Given the description of an element on the screen output the (x, y) to click on. 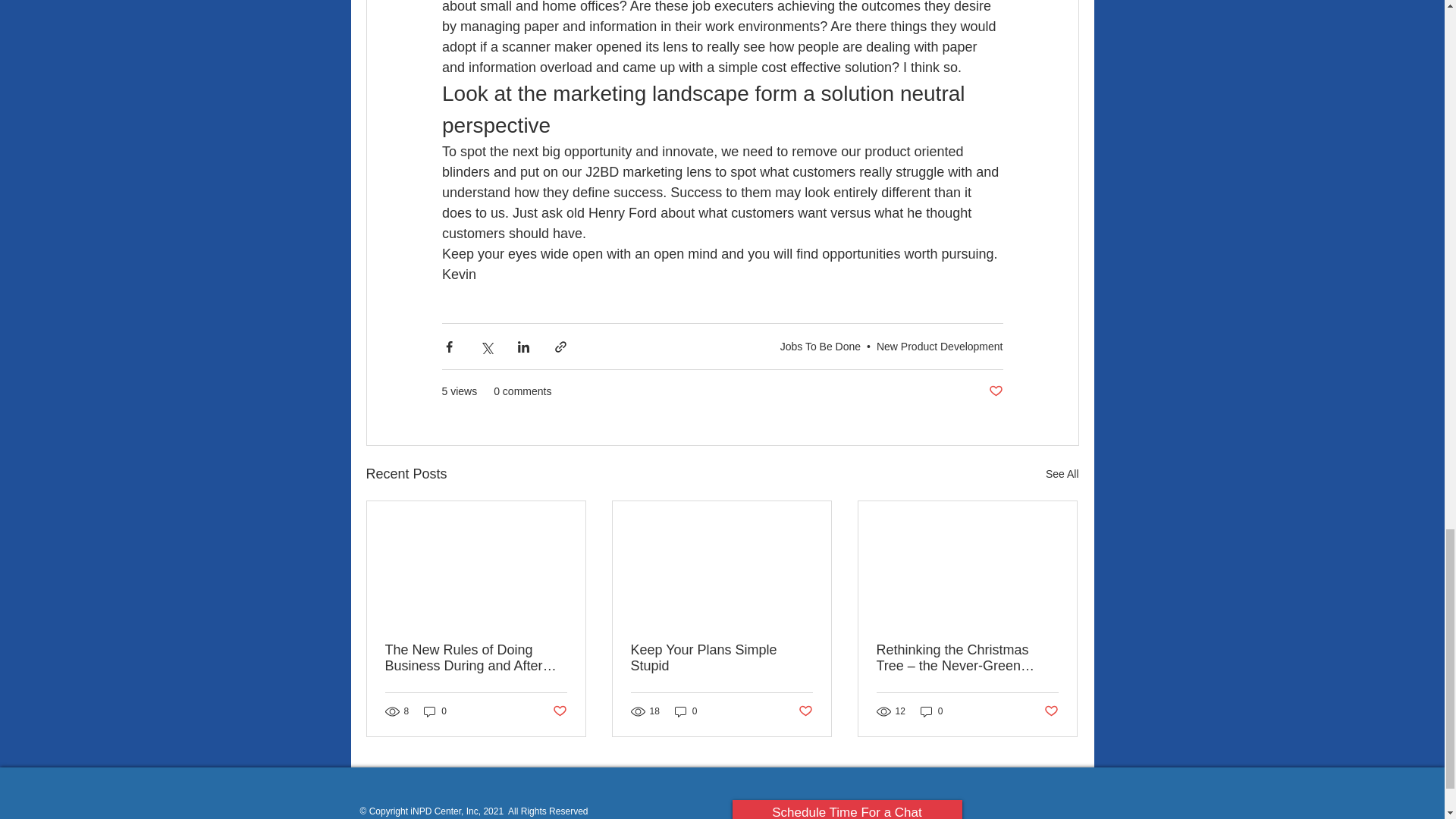
The New Rules of Doing Business During and After Covid-19 (476, 658)
See All (1061, 474)
0 (685, 710)
Keep Your Plans Simple Stupid (721, 658)
Post not marked as liked (558, 711)
Post not marked as liked (804, 711)
Jobs To Be Done (820, 345)
0 (435, 710)
New Product Development (939, 345)
Post not marked as liked (995, 391)
